Given the description of an element on the screen output the (x, y) to click on. 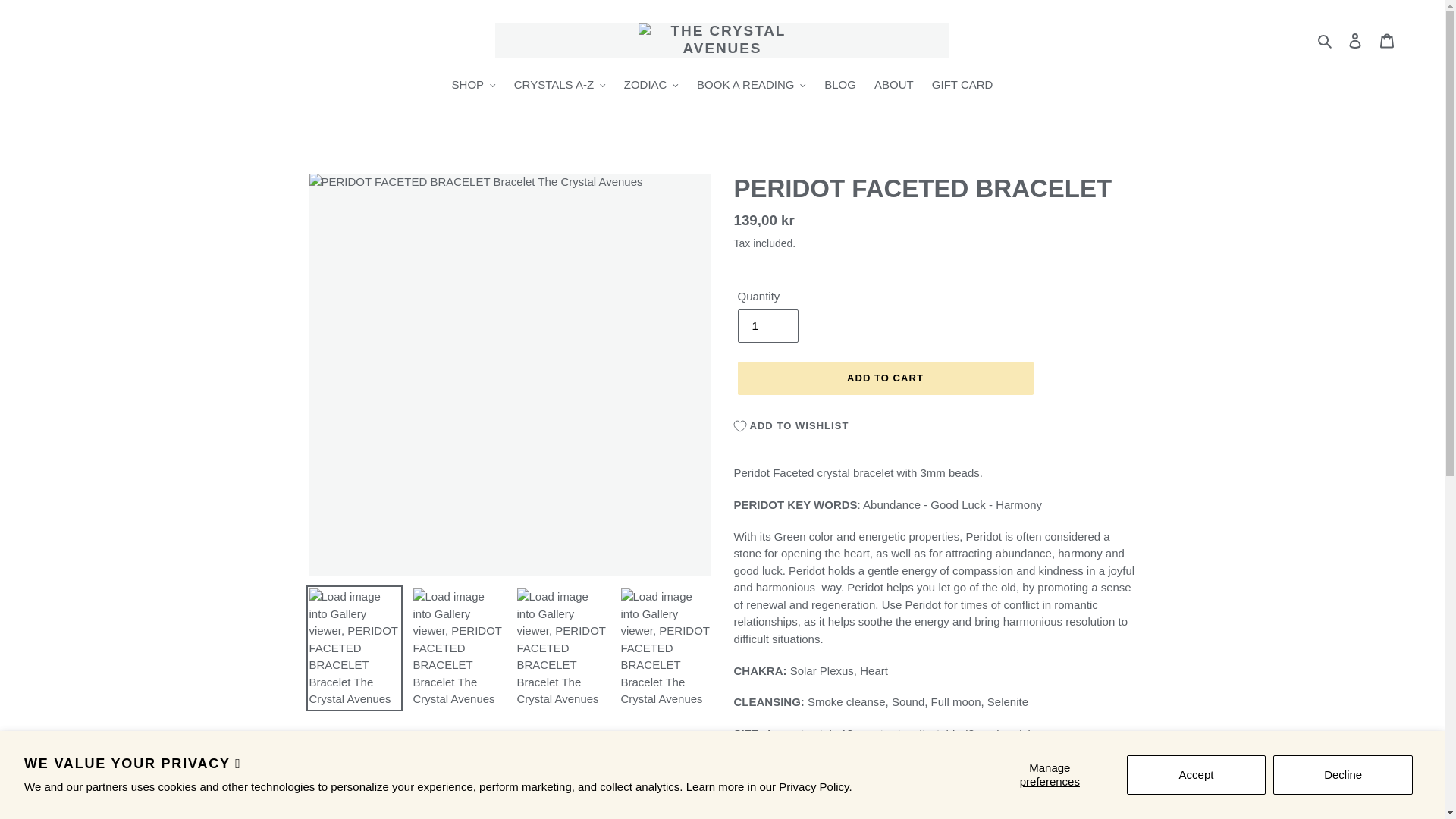
Accept (1196, 774)
Add to Wishlist (790, 426)
1 (766, 326)
Manage preferences (1049, 774)
Search (1326, 40)
Privacy Policy. (814, 786)
Cart (1387, 40)
Decline (1342, 774)
Log in (1355, 40)
